Given the description of an element on the screen output the (x, y) to click on. 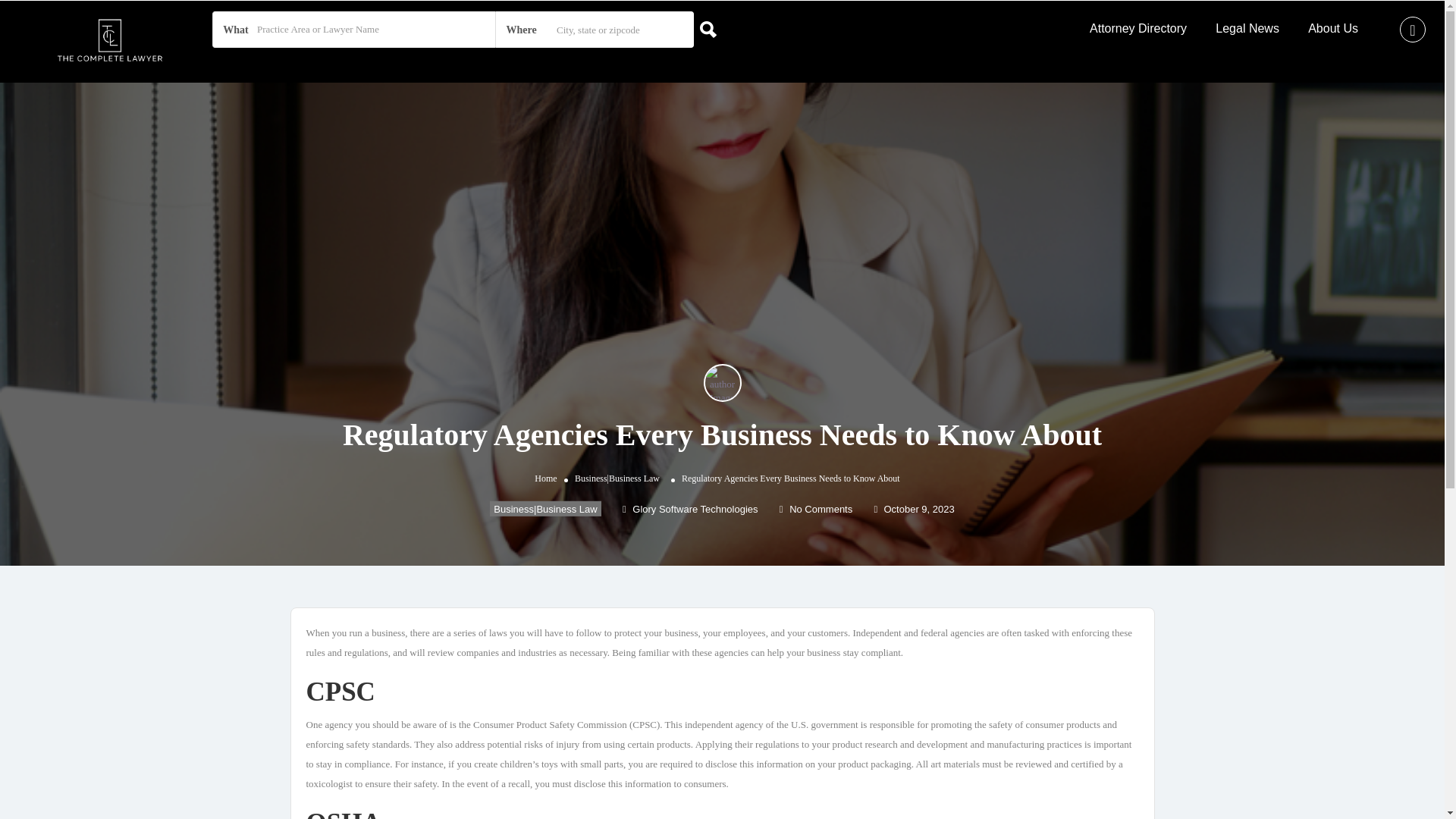
Glory Software Technologies (690, 509)
Attorney Directory (1137, 28)
Home (545, 478)
About Us (1332, 28)
No Comments (814, 509)
Legal News (1247, 28)
is important to stay in compliance (718, 753)
